Given the description of an element on the screen output the (x, y) to click on. 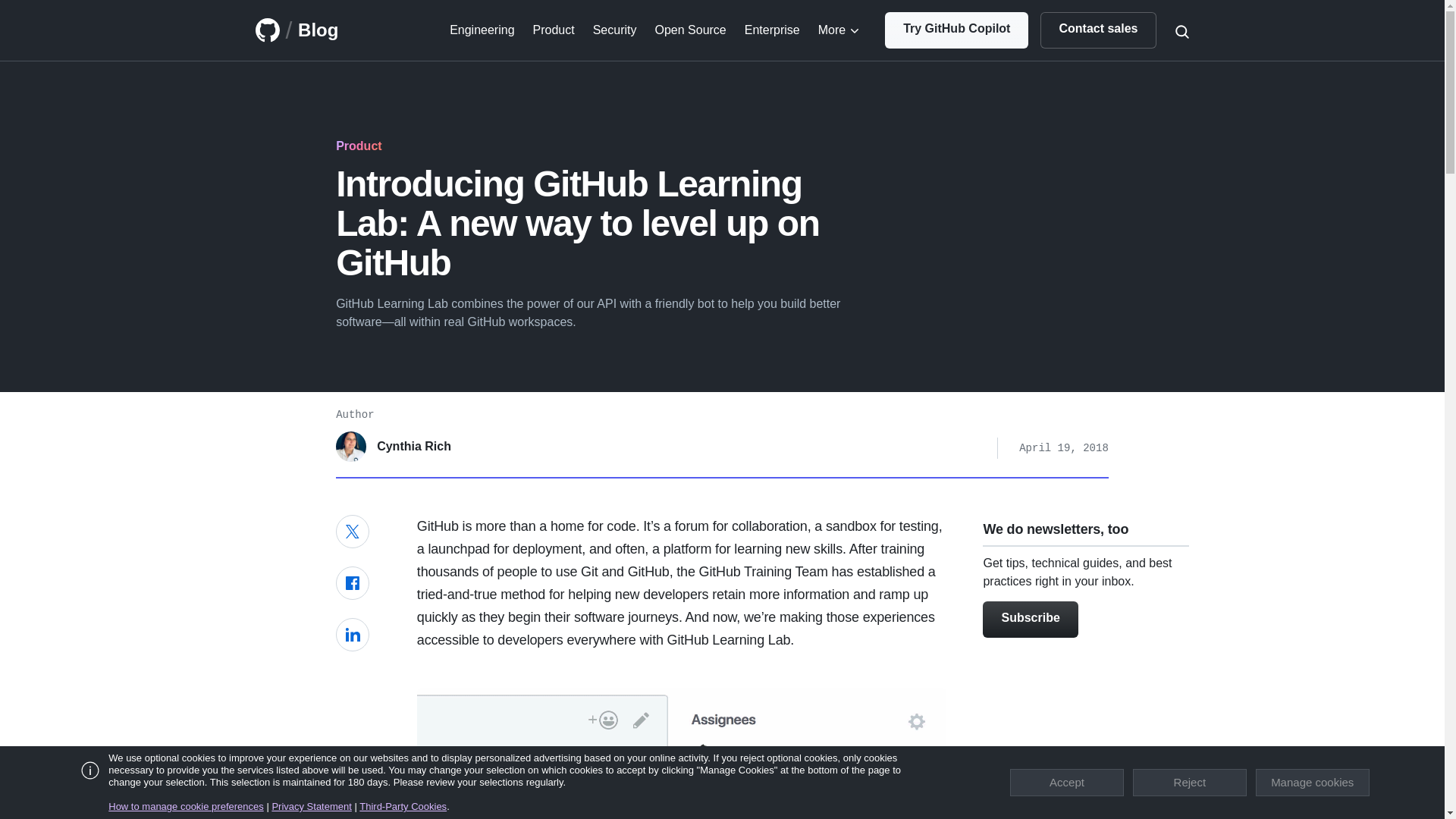
Contact sales (1098, 30)
Blog (317, 30)
Product (358, 145)
More (839, 30)
Engineering (481, 30)
Open Source (689, 30)
Try GitHub Copilot (956, 30)
Enterprise (771, 30)
Visit GitHub (266, 30)
Security (614, 30)
Product (553, 30)
Cynthia Rich (393, 446)
